Given the description of an element on the screen output the (x, y) to click on. 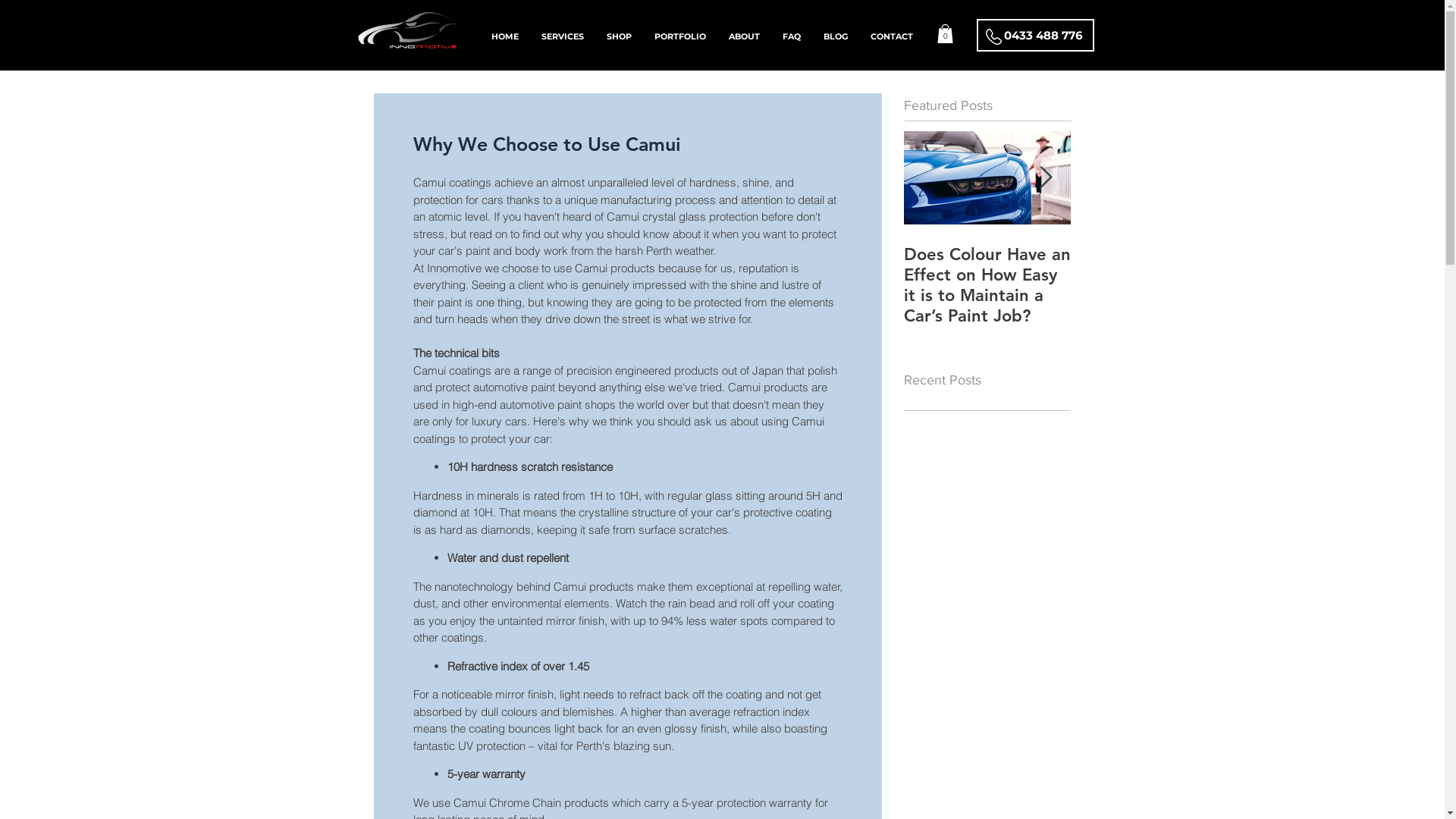
BLOG Element type: text (835, 36)
ABOUT Element type: text (744, 36)
FAQ Element type: text (791, 36)
Keeping Your Car Paint Smooth and Protected Element type: text (1153, 274)
HOME Element type: text (505, 36)
CONTACT Element type: text (891, 36)
PORTFOLIO Element type: text (680, 36)
SHOP Element type: text (619, 36)
SERVICES Element type: text (562, 36)
0 Element type: text (945, 33)
